Given the description of an element on the screen output the (x, y) to click on. 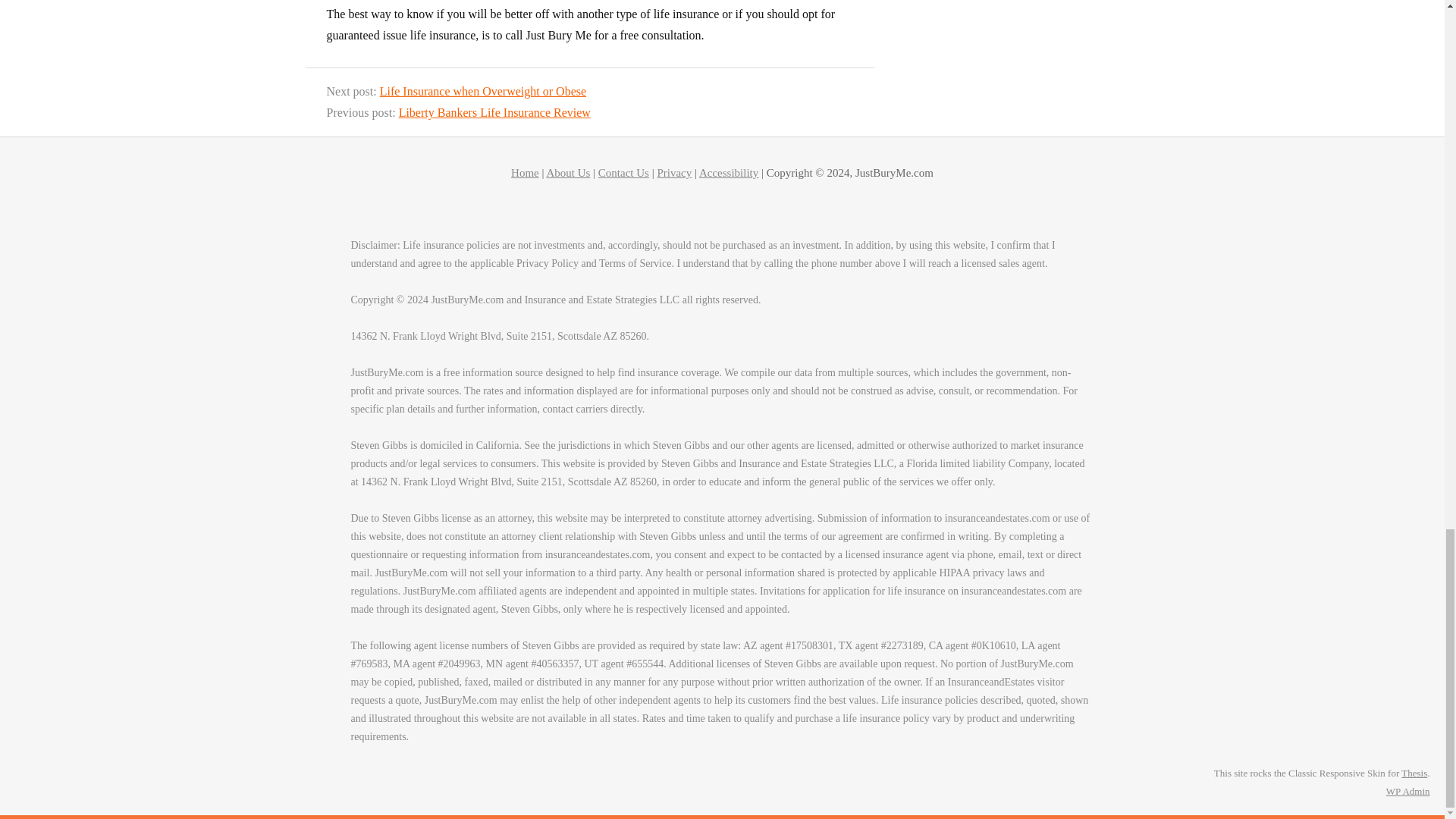
Life Insurance when Overweight or Obese (483, 91)
Home (524, 173)
WordPress (1393, 790)
Liberty Bankers Life Insurance Review (494, 112)
